Given the description of an element on the screen output the (x, y) to click on. 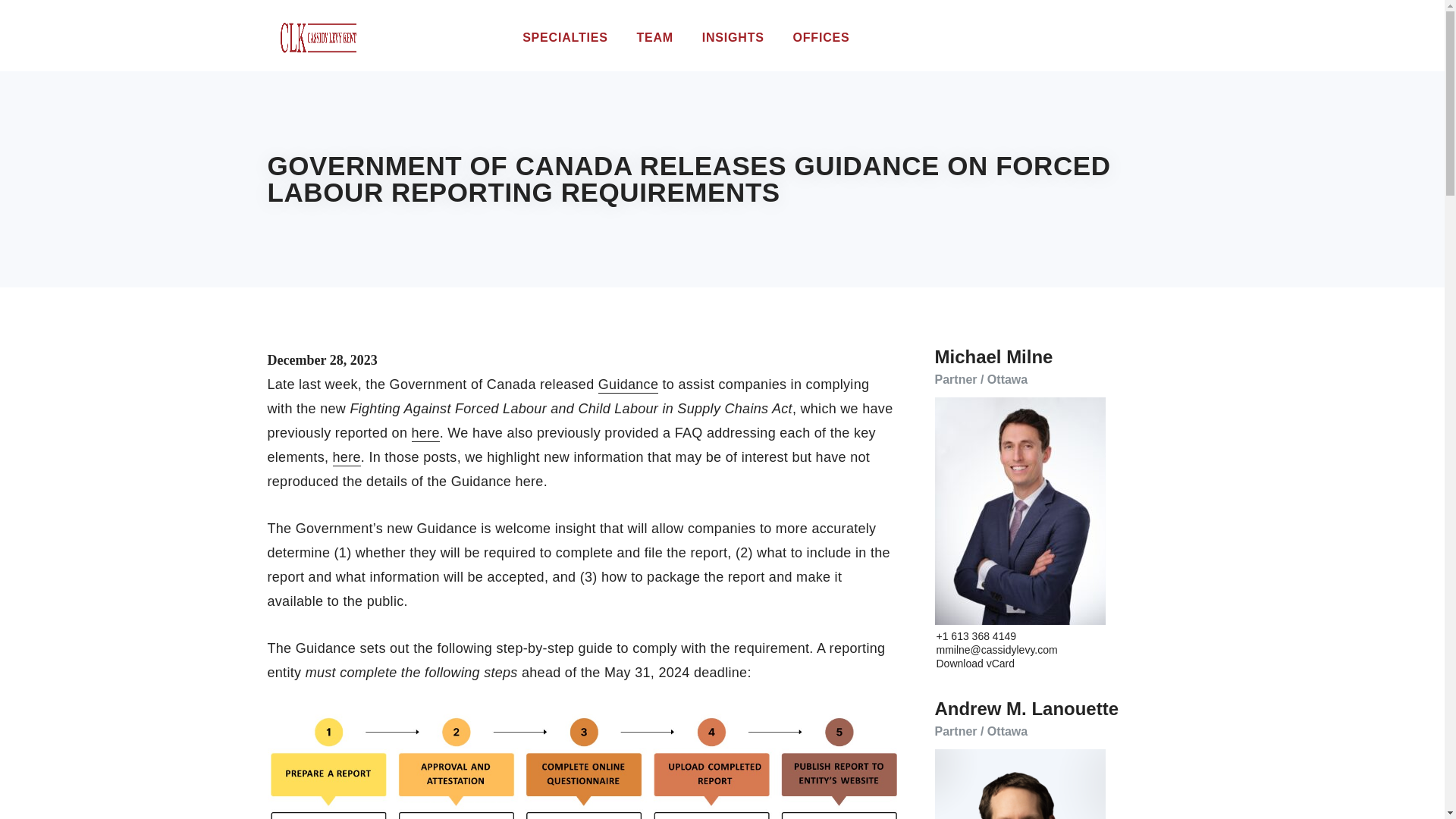
here (347, 457)
here (425, 433)
Download vCard (975, 663)
TEAM (655, 37)
SPECIALTIES (564, 37)
INSIGHTS (732, 37)
OFFICES (821, 37)
Guidance (628, 384)
